Given the description of an element on the screen output the (x, y) to click on. 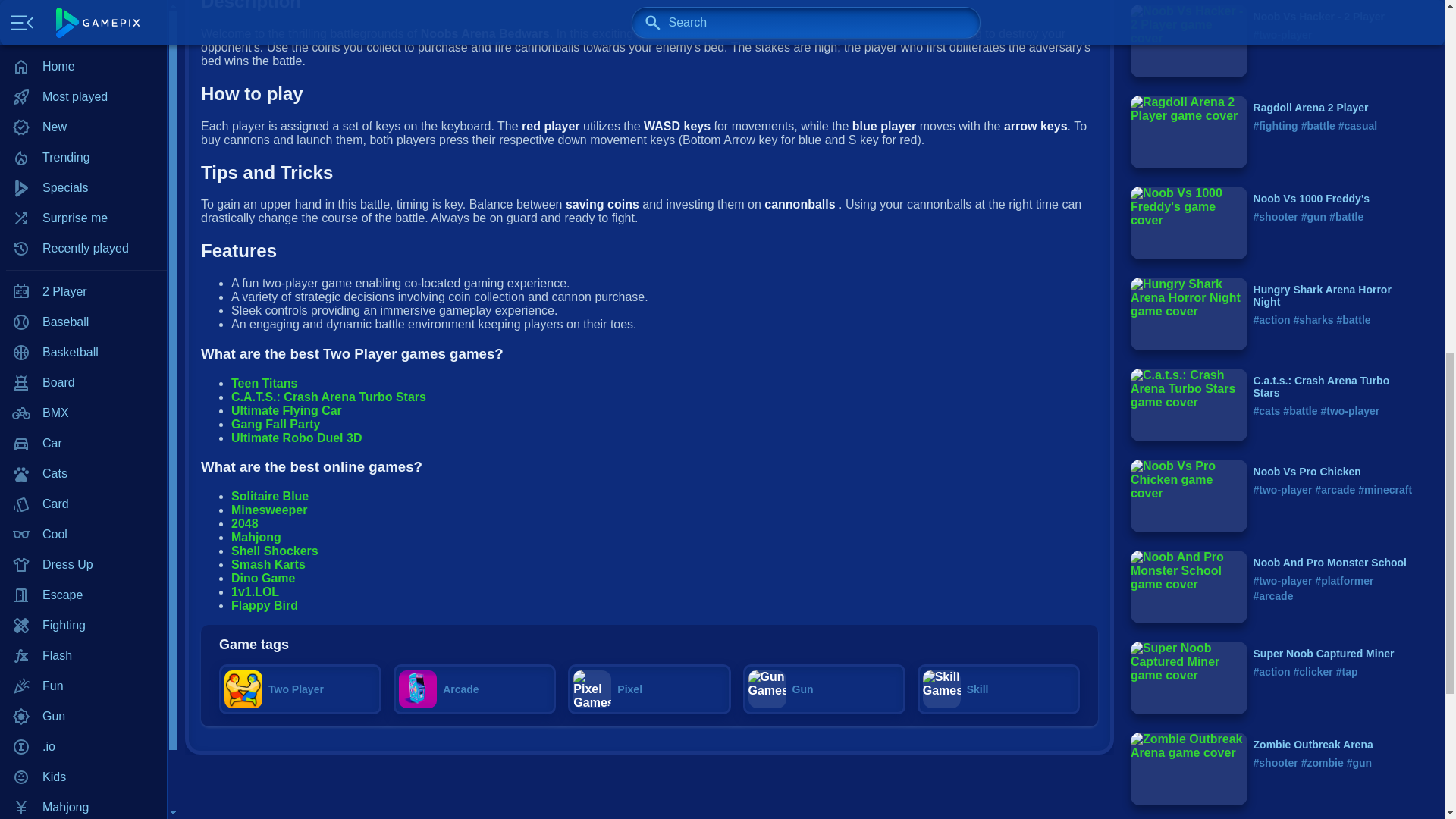
Mario (83, 19)
RPG (83, 170)
Zombie (83, 382)
Poker (83, 79)
Shooter (83, 200)
Racing (83, 140)
Snake (83, 261)
War (83, 322)
Puzzle (83, 110)
Math (83, 49)
Solitaire (83, 231)
Soccer (83, 291)
Mahjong (83, 2)
Word (83, 352)
